Given the description of an element on the screen output the (x, y) to click on. 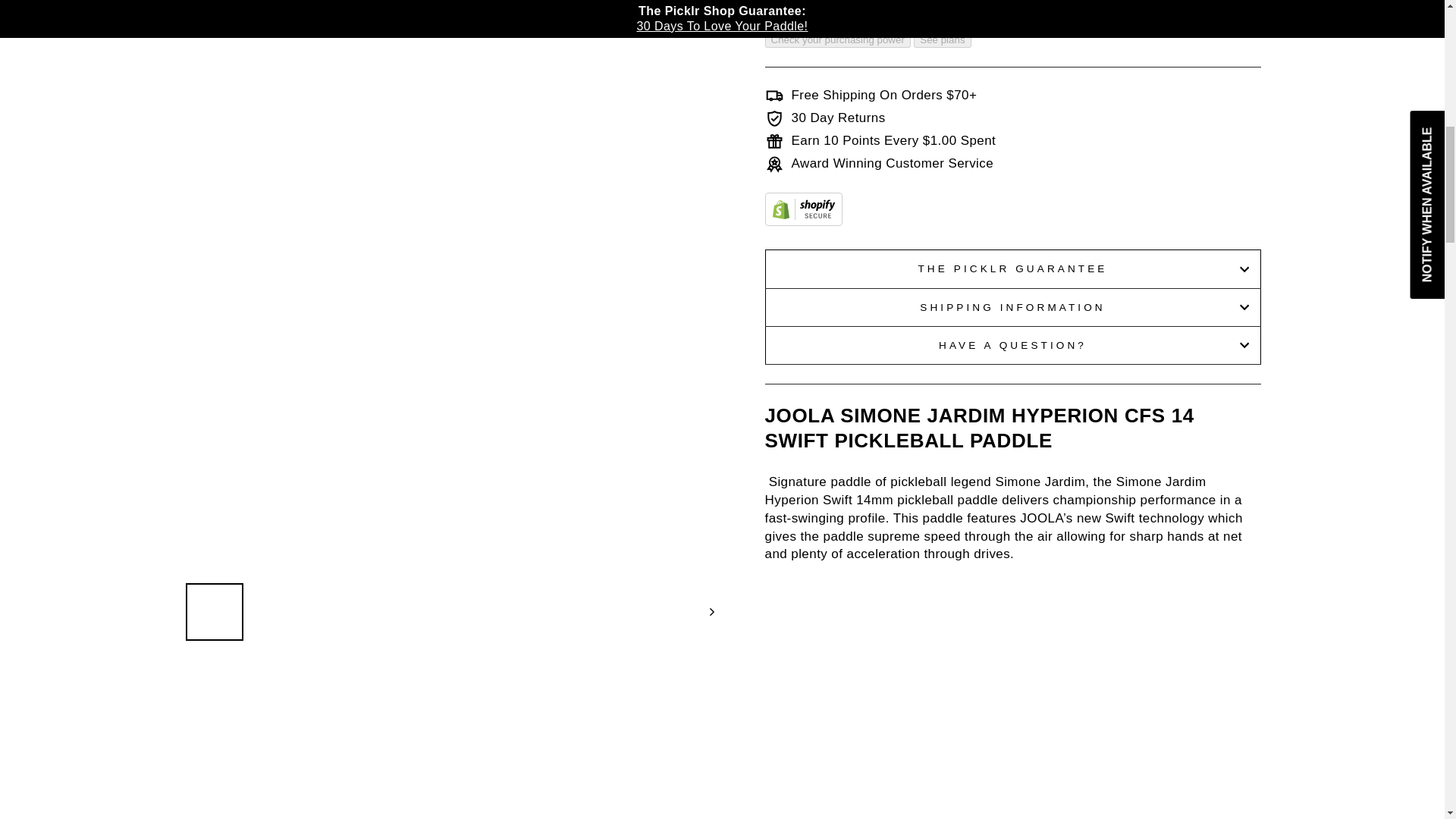
This online store is secured by Shopify (802, 221)
YouTube video player (1012, 700)
